Given the description of an element on the screen output the (x, y) to click on. 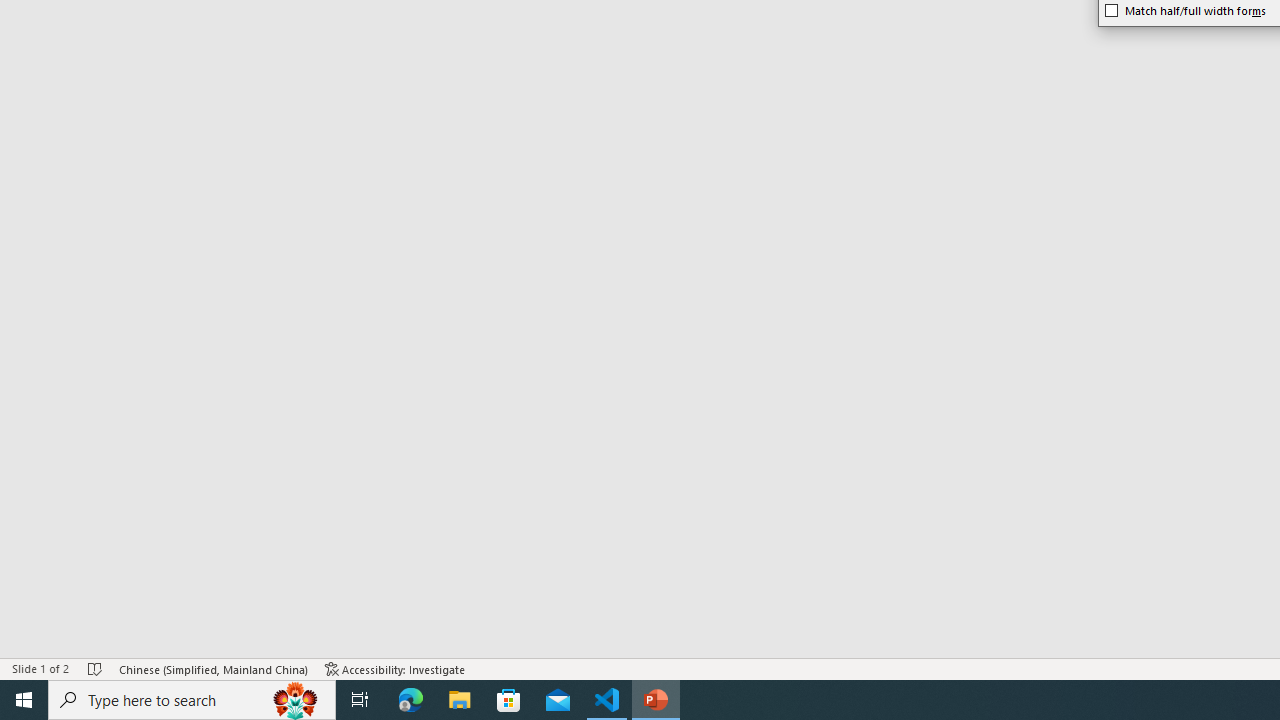
Match half/full width forms (1186, 10)
